Given the description of an element on the screen output the (x, y) to click on. 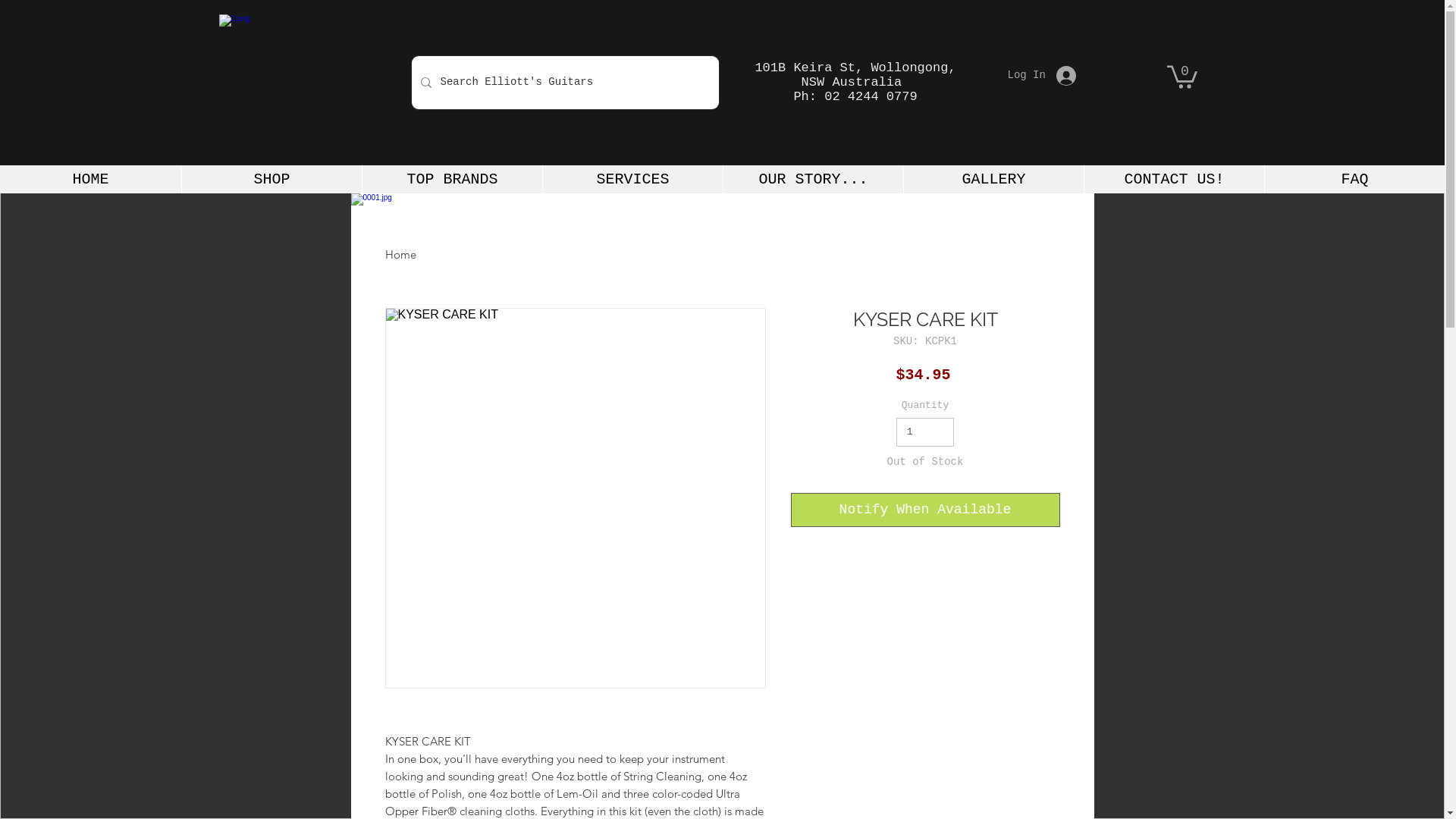
Notify When Available Element type: text (924, 509)
FAQ Element type: text (1354, 179)
SHOP Element type: text (271, 179)
0 Element type: text (1181, 75)
CONTACT US! Element type: text (1173, 179)
Log In Element type: text (1040, 75)
OUR STORY... Element type: text (812, 179)
GALLERY Element type: text (993, 179)
HOME Element type: text (90, 179)
Home Element type: text (400, 254)
